Given the description of an element on the screen output the (x, y) to click on. 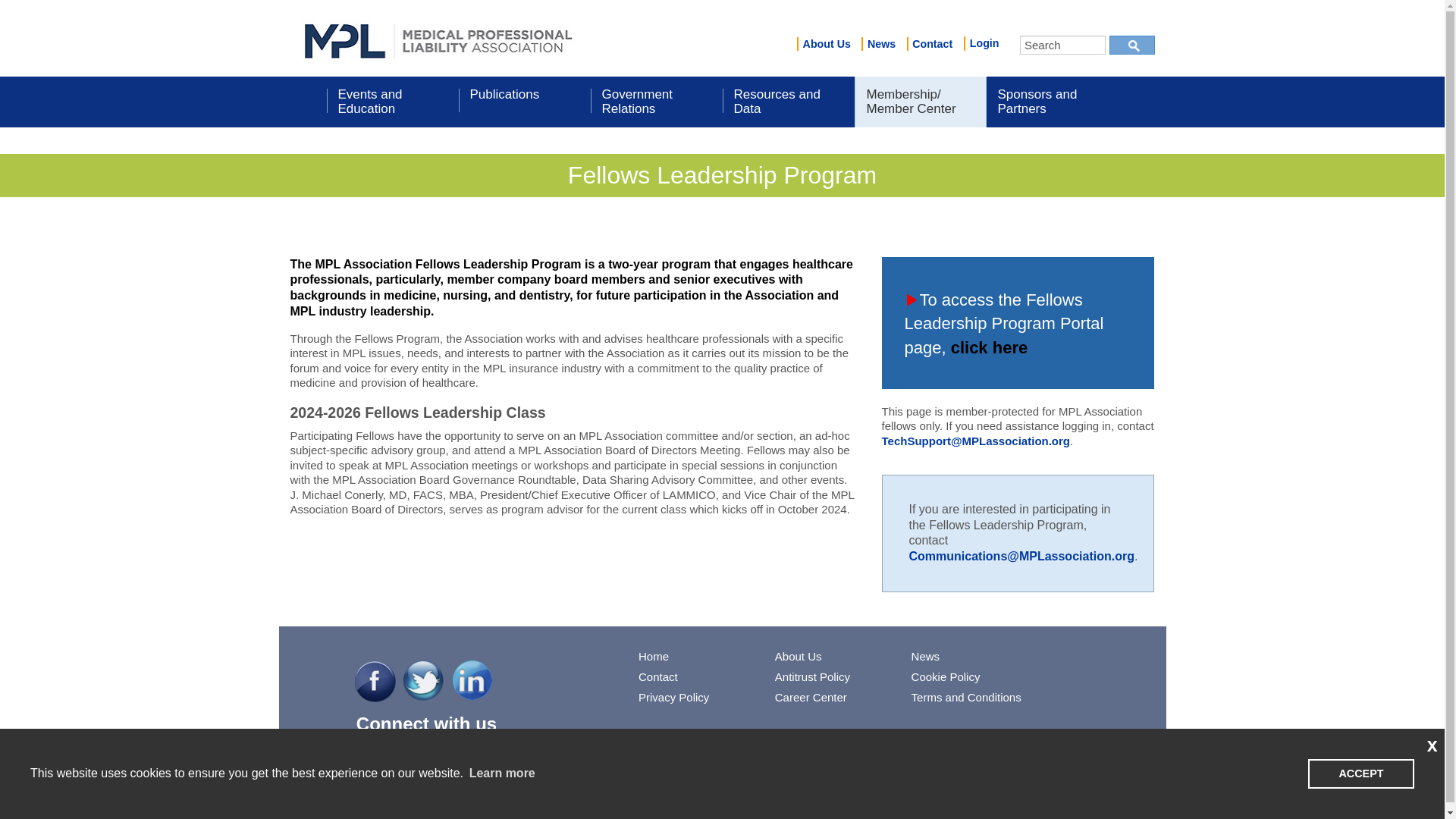
Government Relations (655, 101)
Publications (523, 101)
Login (980, 43)
ACCEPT (1360, 773)
Search (1062, 45)
News (881, 43)
iMIS (438, 38)
Learn more (501, 773)
Home (438, 38)
About Us (826, 43)
Resources and Data (787, 101)
Go (1131, 45)
Contact (932, 43)
Search (1062, 45)
Events and Education (392, 101)
